Given the description of an element on the screen output the (x, y) to click on. 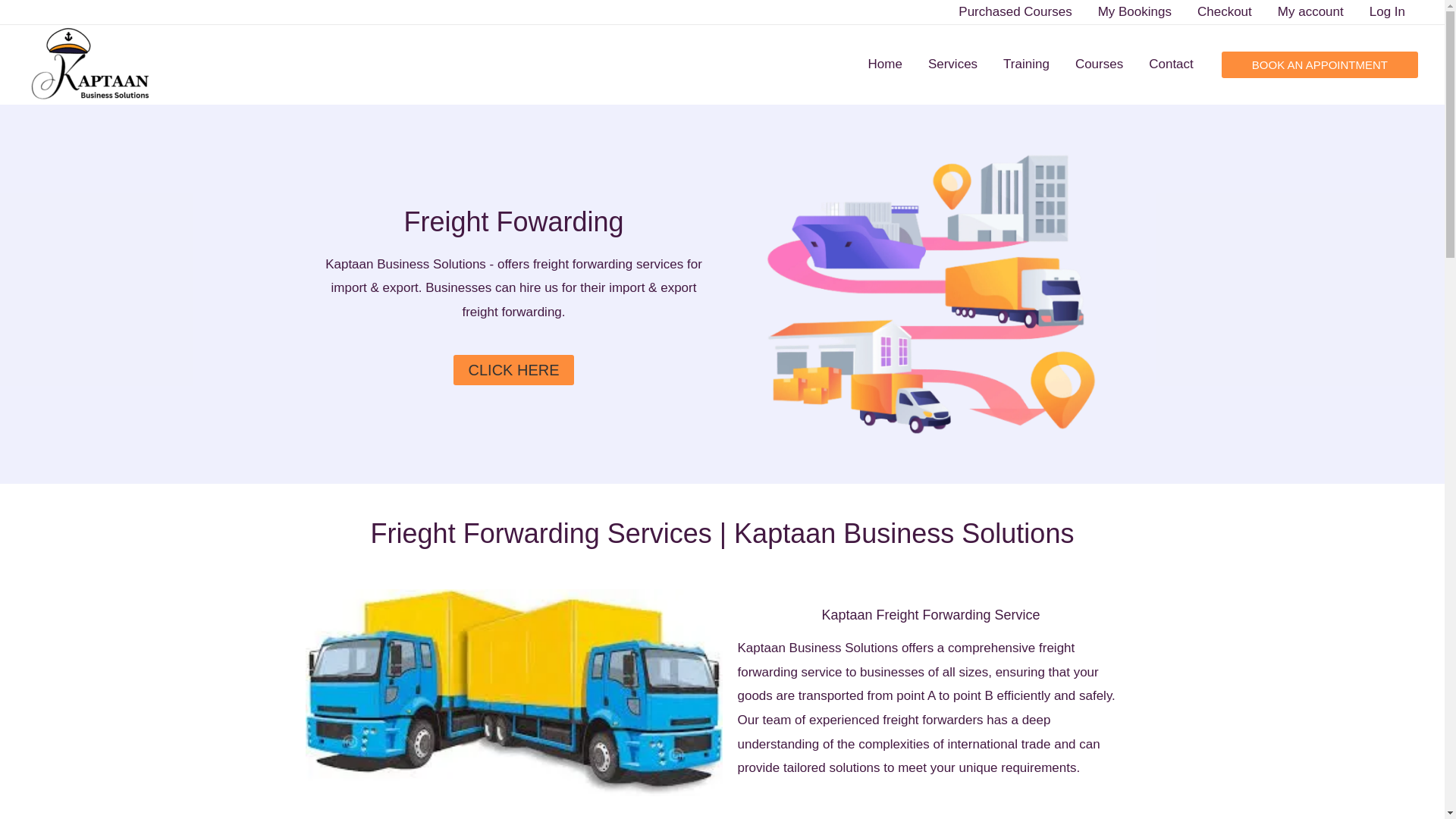
Purchased Courses (1014, 11)
Home (885, 63)
Log In (1387, 11)
Training (1026, 63)
Checkout (1225, 11)
My Bookings (1134, 11)
Services (952, 63)
AGD-Logistics-scaled 1 (930, 294)
My account (1310, 11)
